Given the description of an element on the screen output the (x, y) to click on. 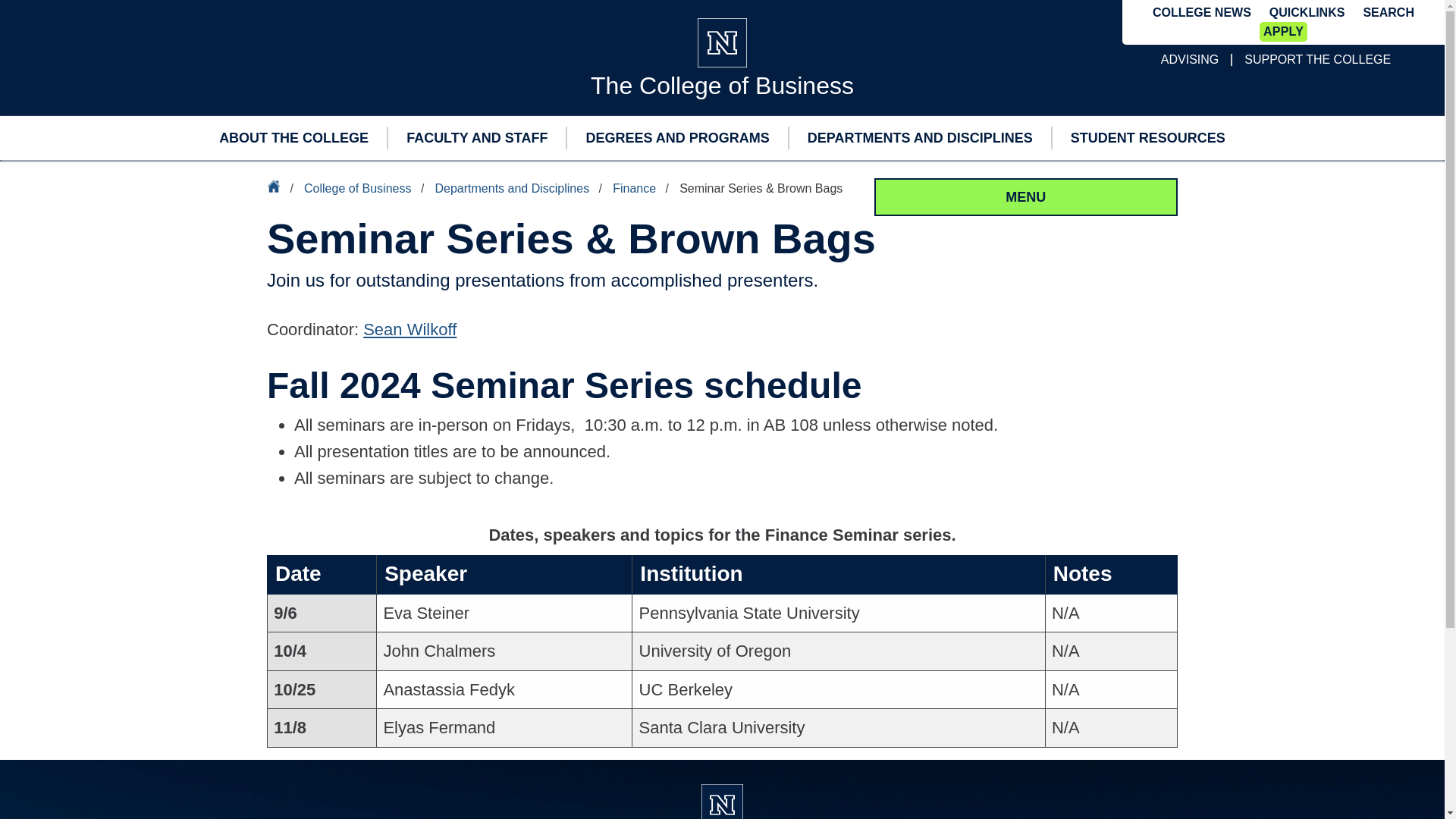
COLLEGE NEWS (1201, 13)
SUPPORT THE COLLEGE (1317, 59)
ADVISING (1189, 59)
QUICKLINKS (1307, 12)
SEARCH (1387, 12)
APPLY (1283, 31)
ABOUT THE COLLEGE (293, 137)
